Given the description of an element on the screen output the (x, y) to click on. 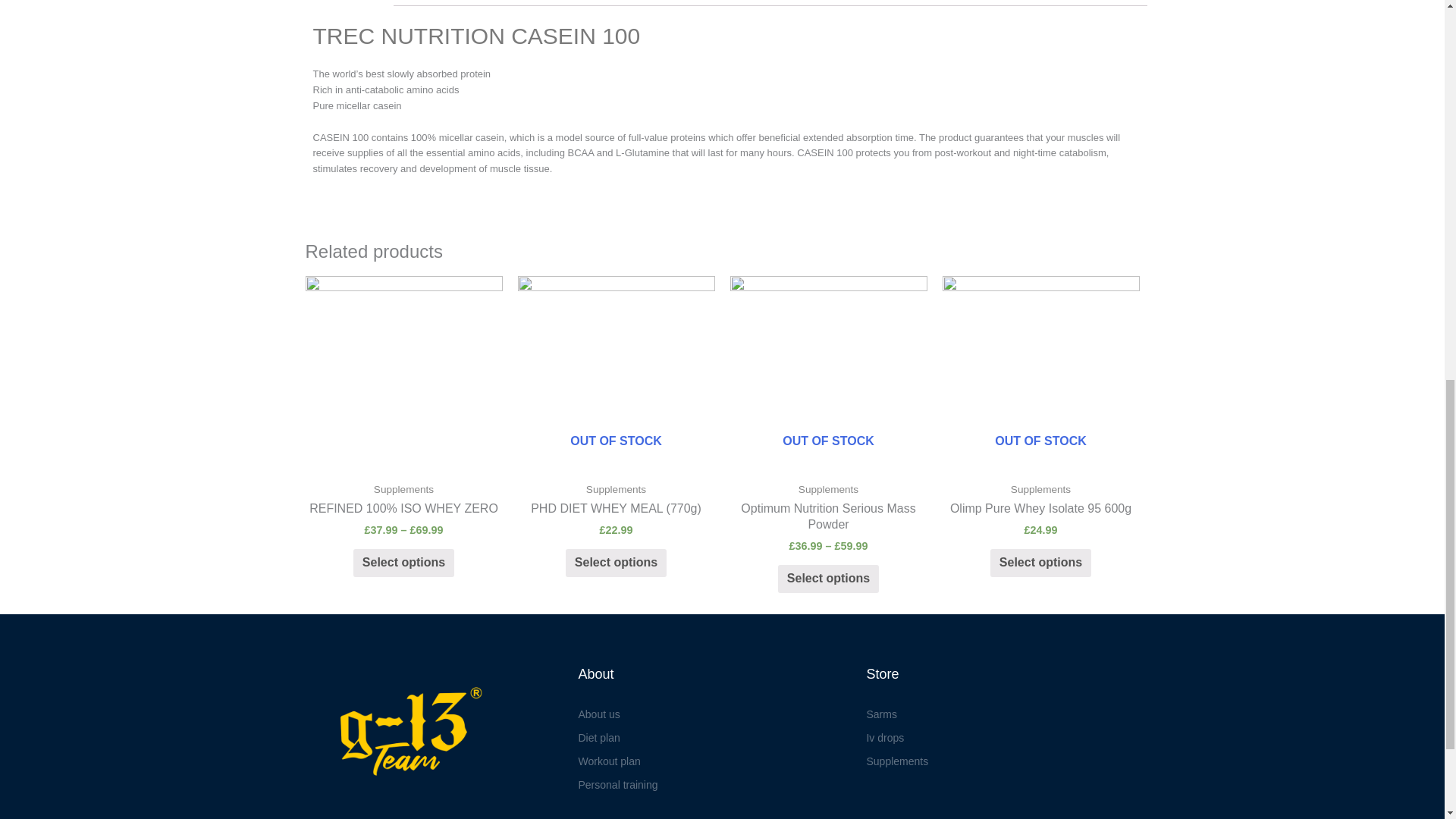
Additional information (488, 3)
OUT OF STOCK (615, 374)
Description (345, 3)
Select options (403, 562)
